Given the description of an element on the screen output the (x, y) to click on. 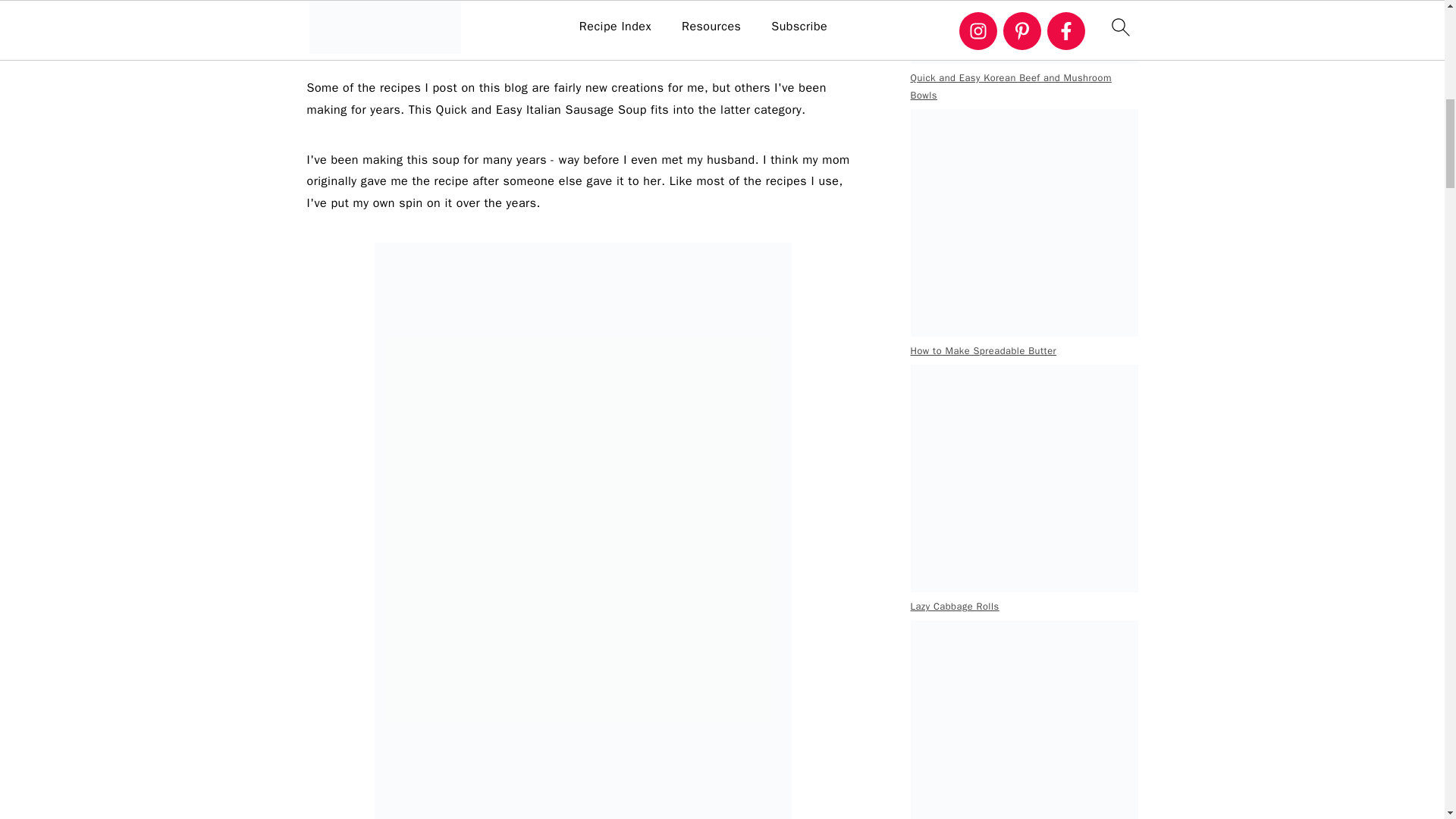
Quick and Easy Korean Beef and Mushroom Bowls (1023, 31)
Quick and Easy Italian Sausage Soup (583, 28)
Lazy Cabbage Rolls (1023, 478)
How to Make Spreadable Butter (1023, 222)
